Given the description of an element on the screen output the (x, y) to click on. 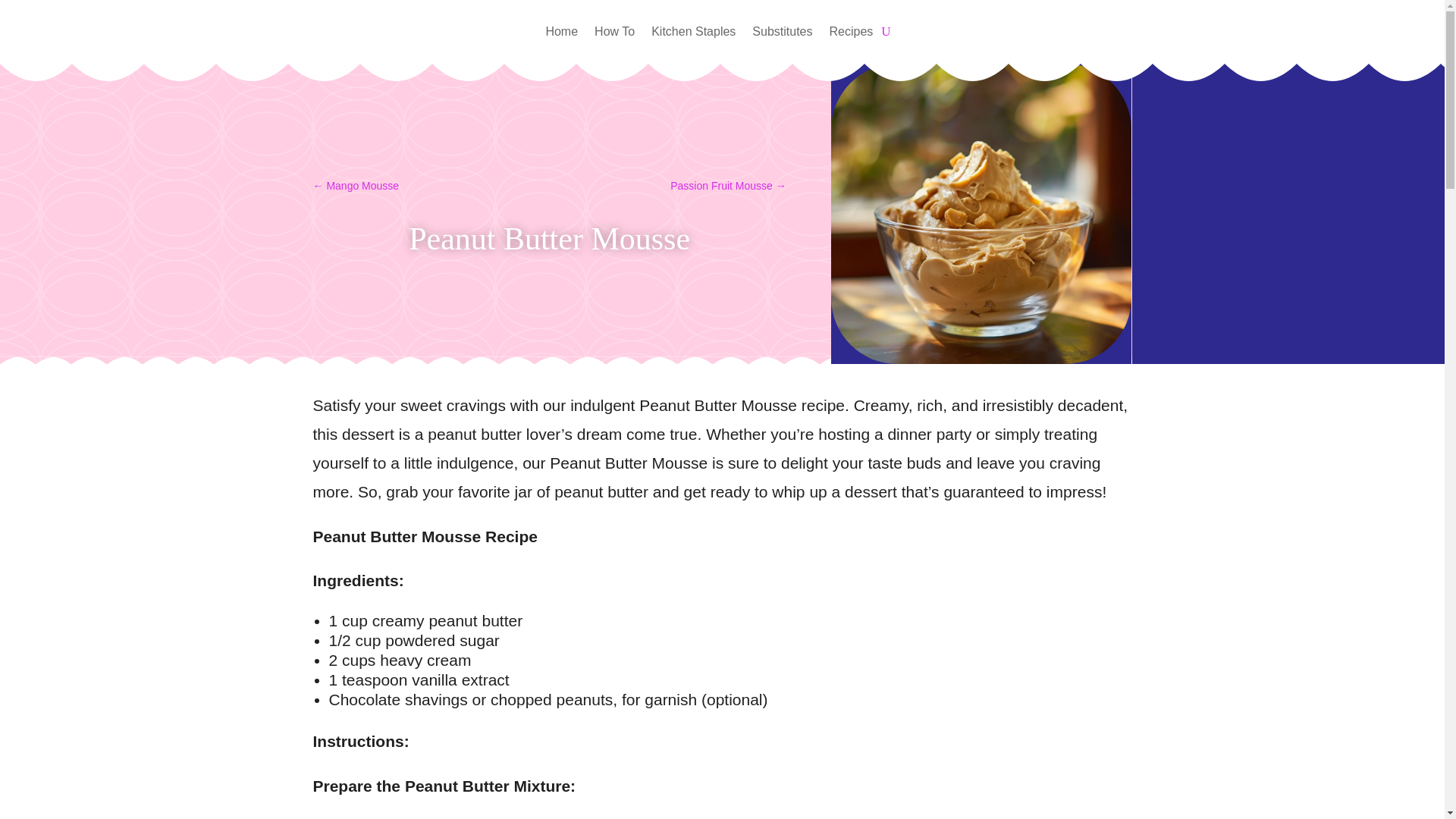
Recipes (851, 34)
peanutbutter custard (981, 213)
Substitutes (782, 34)
How To (614, 34)
Home (561, 34)
Kitchen Staples (692, 34)
